Given the description of an element on the screen output the (x, y) to click on. 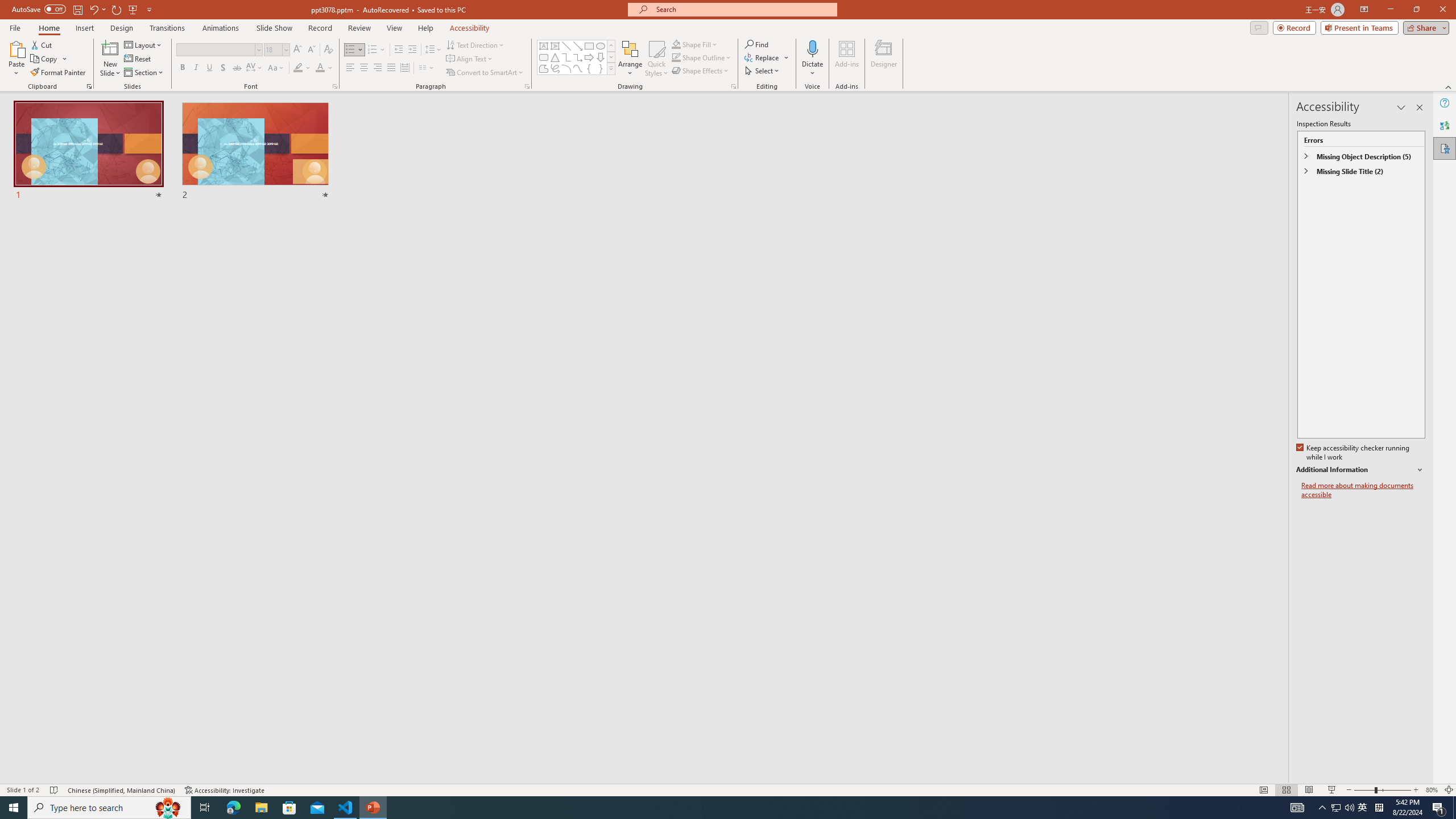
Shape Fill Dark Green, Accent 2 (675, 44)
Shape Outline Green, Accent 1 (675, 56)
